Given the description of an element on the screen output the (x, y) to click on. 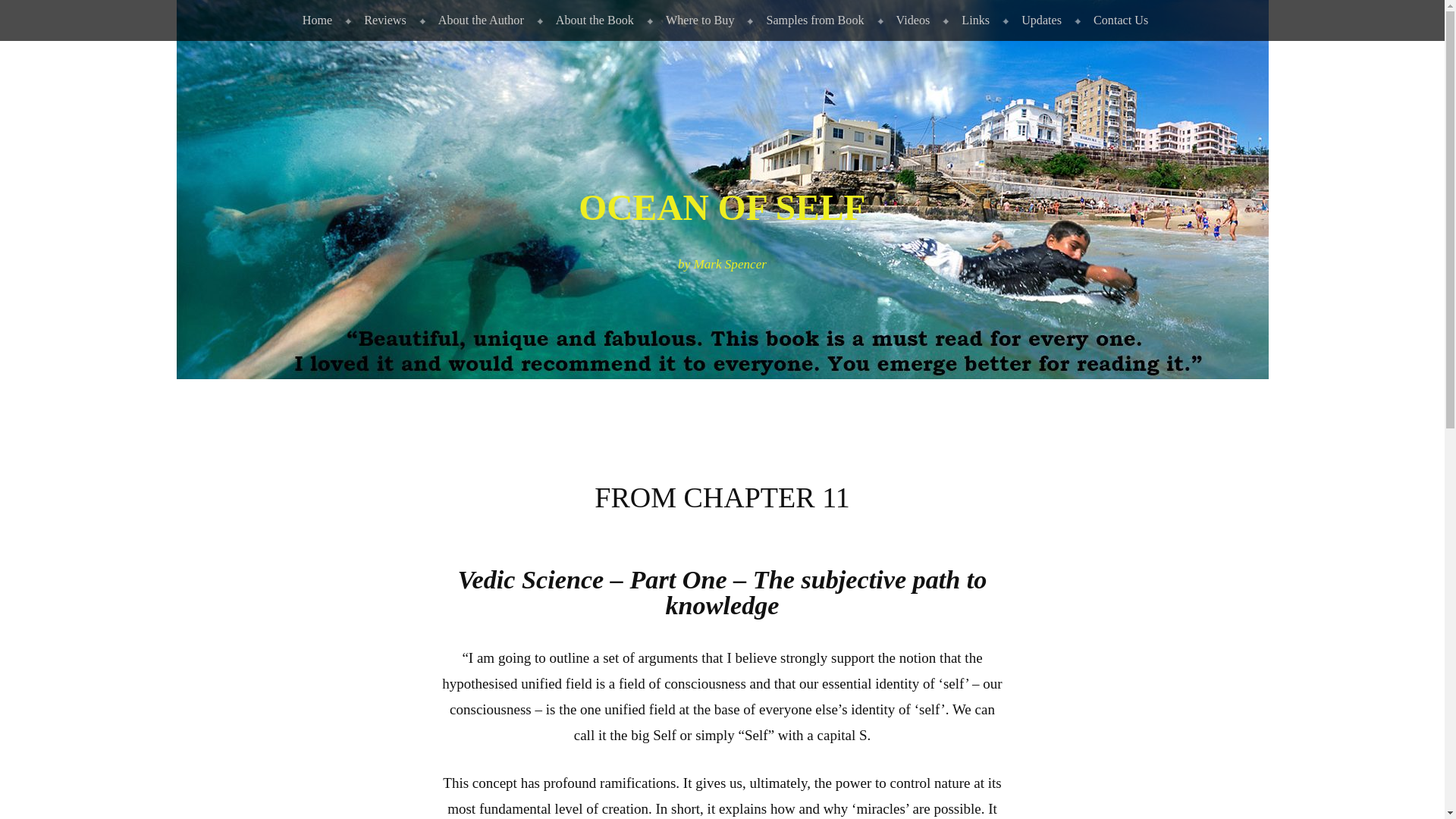
Updates Element type: text (1038, 20)
Reviews Element type: text (382, 20)
Links Element type: text (972, 20)
Search Element type: text (34, 16)
Skip to content Element type: text (37, 12)
Home Element type: text (314, 20)
Samples from Book Element type: text (811, 20)
About the Book Element type: text (591, 20)
Videos Element type: text (910, 20)
Contact Us Element type: text (1117, 20)
Where to Buy Element type: text (696, 20)
OCEAN OF SELF Element type: text (721, 207)
About the Author Element type: text (477, 20)
